Given the description of an element on the screen output the (x, y) to click on. 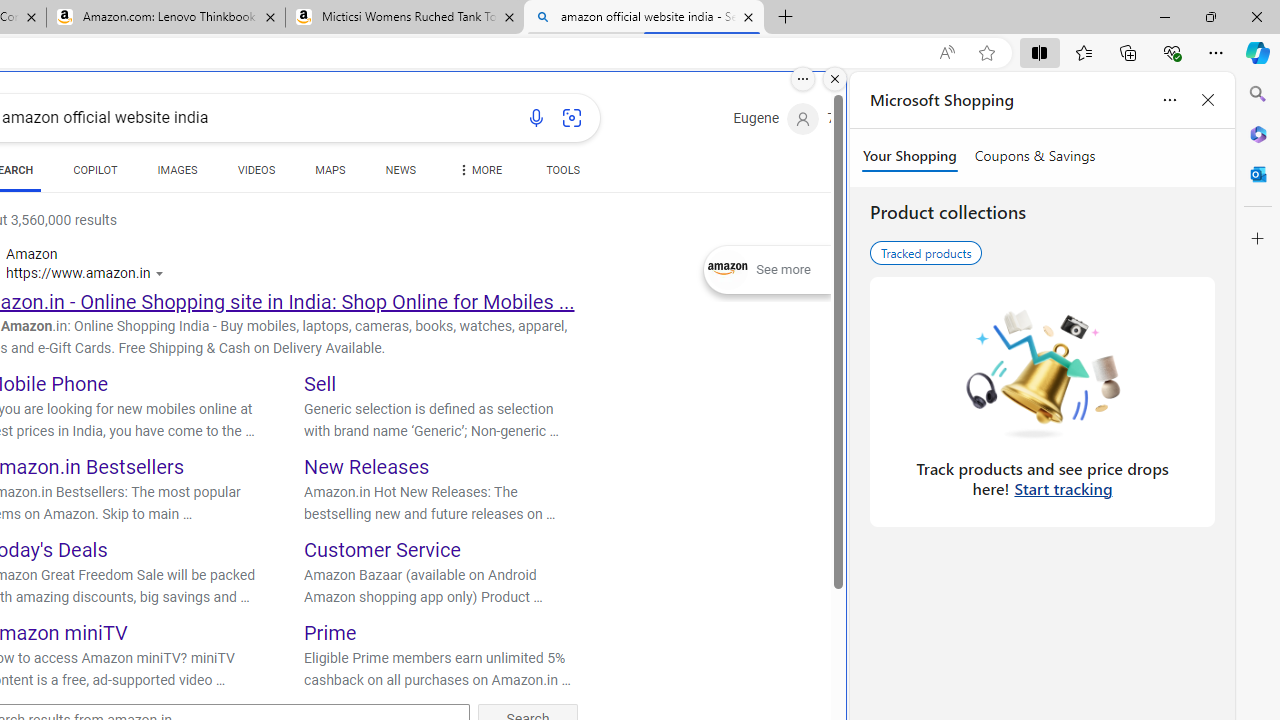
Microsoft Rewards 72 (856, 119)
MAPS (330, 173)
MAPS (330, 170)
